Given the description of an element on the screen output the (x, y) to click on. 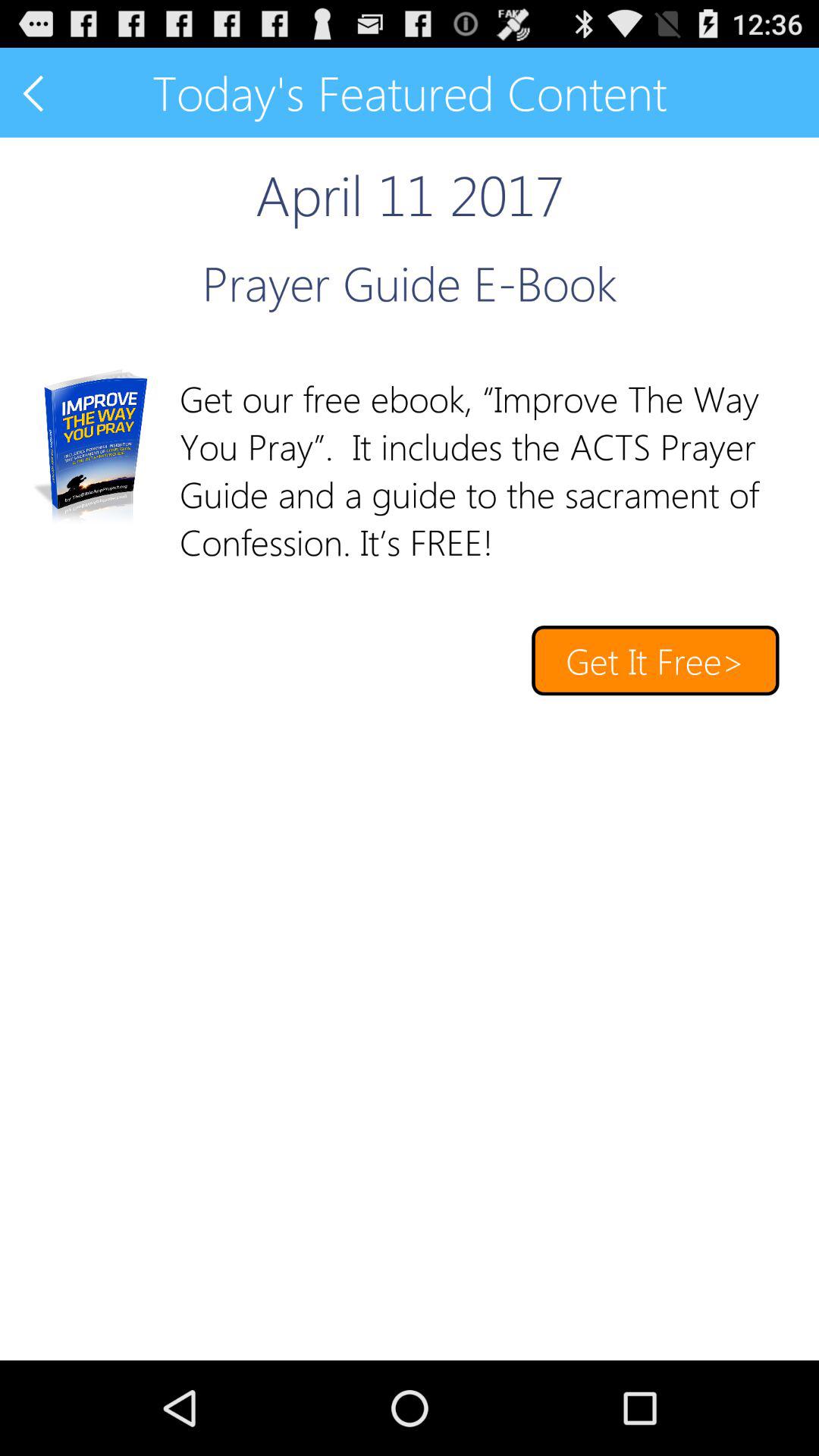
go previous (34, 92)
